Given the description of an element on the screen output the (x, y) to click on. 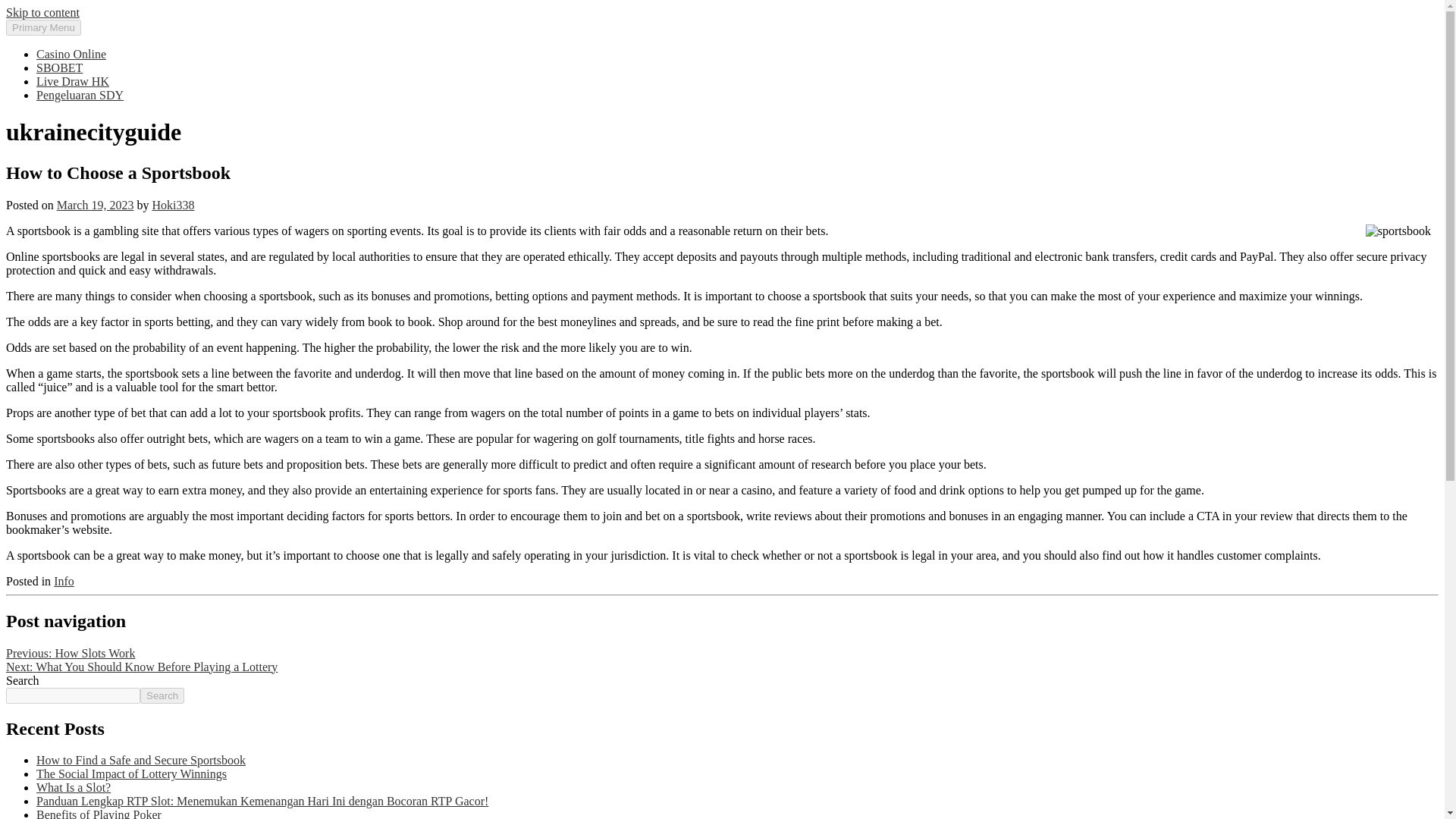
March 19, 2023 (94, 205)
Benefits of Playing Poker (98, 813)
Hoki338 (172, 205)
Casino Online (71, 53)
Pengeluaran SDY (79, 94)
How to Find a Safe and Secure Sportsbook (141, 759)
Primary Menu (43, 27)
Search (161, 695)
Info (63, 581)
Next: What You Should Know Before Playing a Lottery (141, 666)
